Given the description of an element on the screen output the (x, y) to click on. 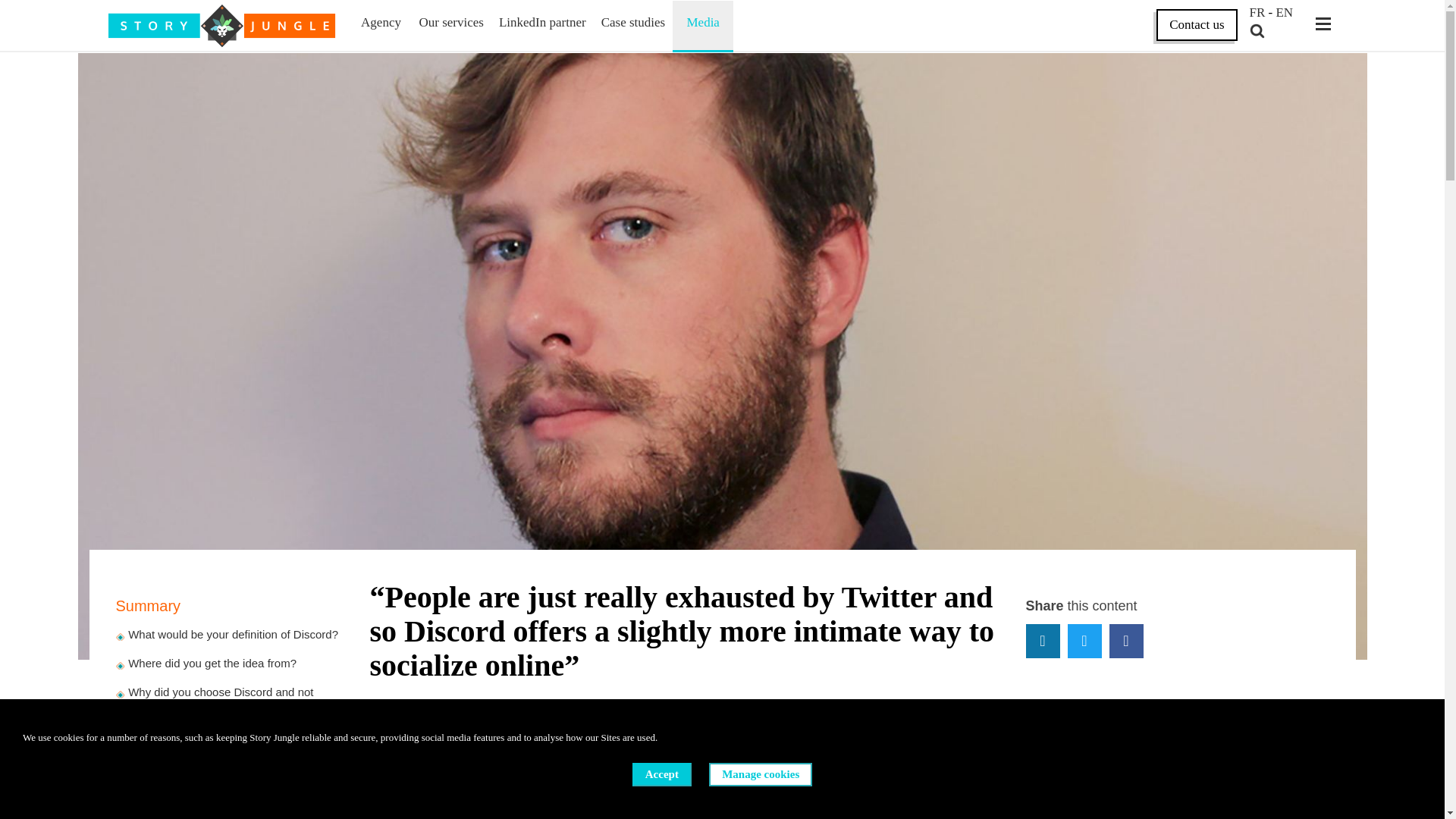
Contact us (1196, 24)
FR (1257, 13)
2. Where did you get the idea from? (205, 662)
Media (702, 22)
Case studies (633, 22)
LinkedIn partner (542, 22)
EN (1283, 13)
1. What would be your definition of Discord? (226, 634)
